Given the description of an element on the screen output the (x, y) to click on. 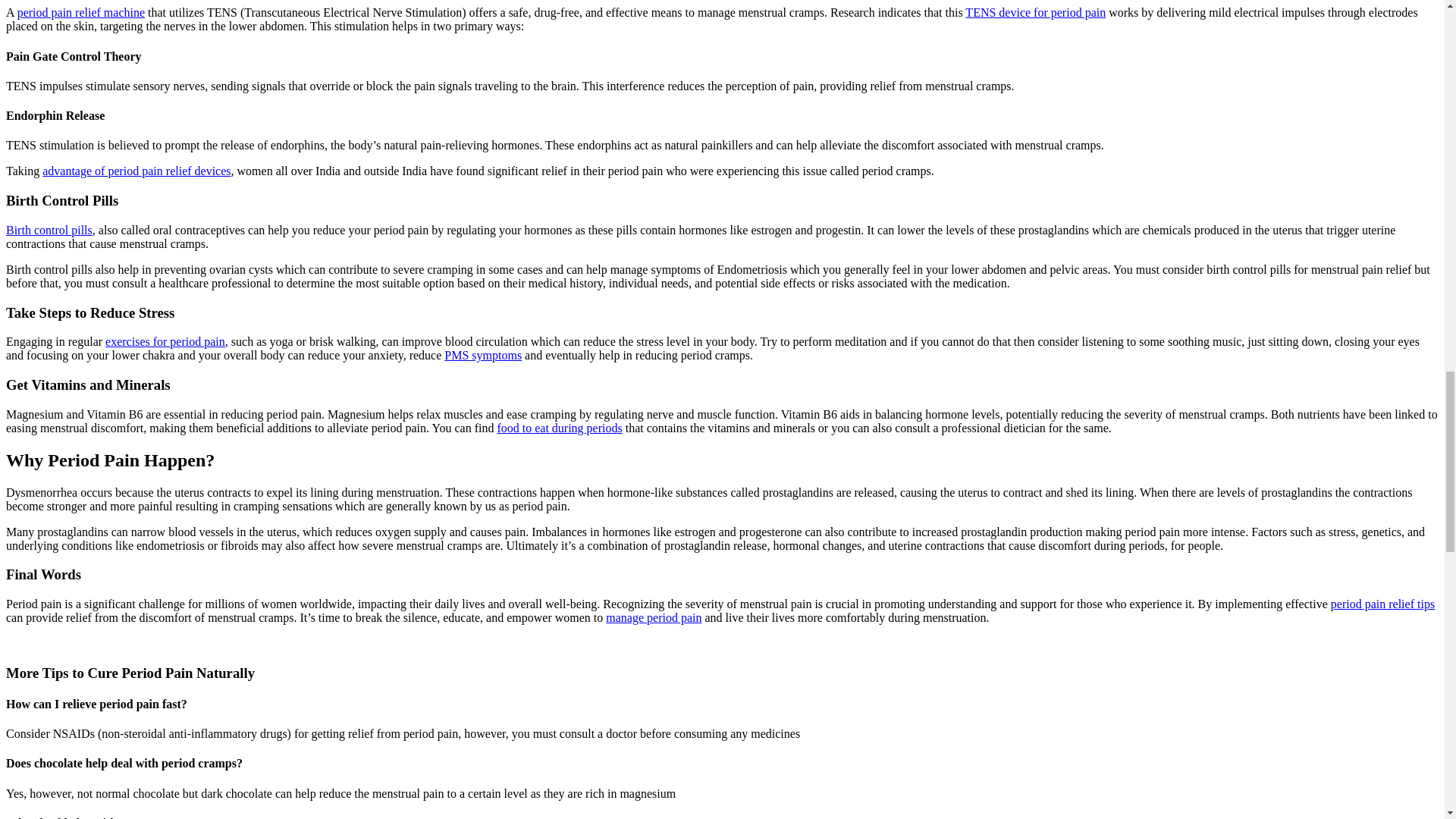
period pain relief machine (80, 11)
Birth control pills (49, 229)
TENS device for period pain (1035, 11)
exercises for period pain (164, 341)
PMS symptoms (482, 354)
advantage of period pain relief devices (136, 170)
food to eat during periods (558, 427)
